Given the description of an element on the screen output the (x, y) to click on. 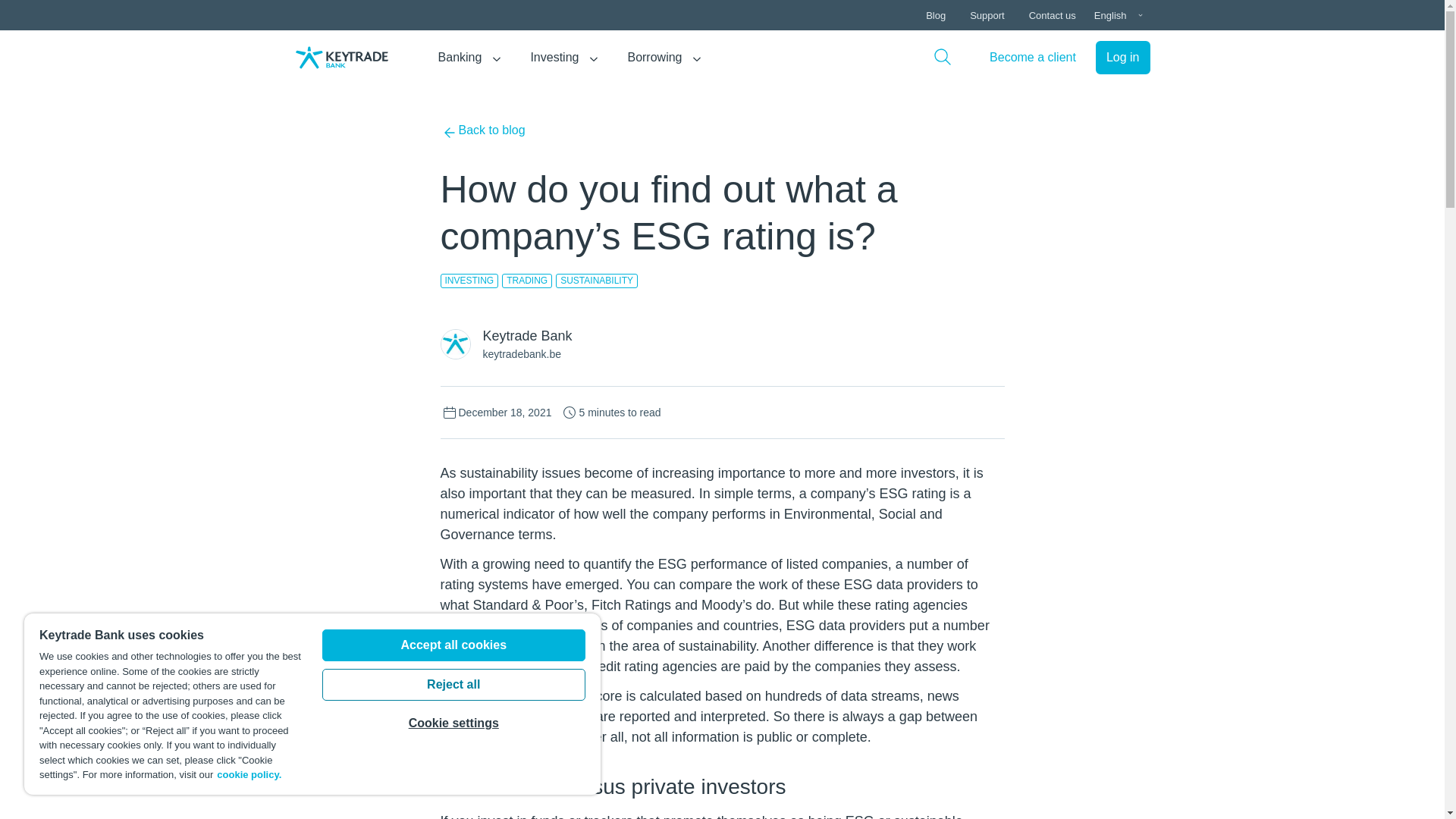
TRADING (526, 280)
Open search (942, 57)
Become a client (1032, 57)
SUSTAINABILITY (596, 280)
INVESTING (468, 280)
Investing (553, 57)
Support (987, 15)
Banking (459, 57)
Contact us (1051, 15)
Back to blog (481, 131)
Blog (936, 15)
Log in (1123, 57)
English (1118, 15)
Borrowing (654, 57)
